Given the description of an element on the screen output the (x, y) to click on. 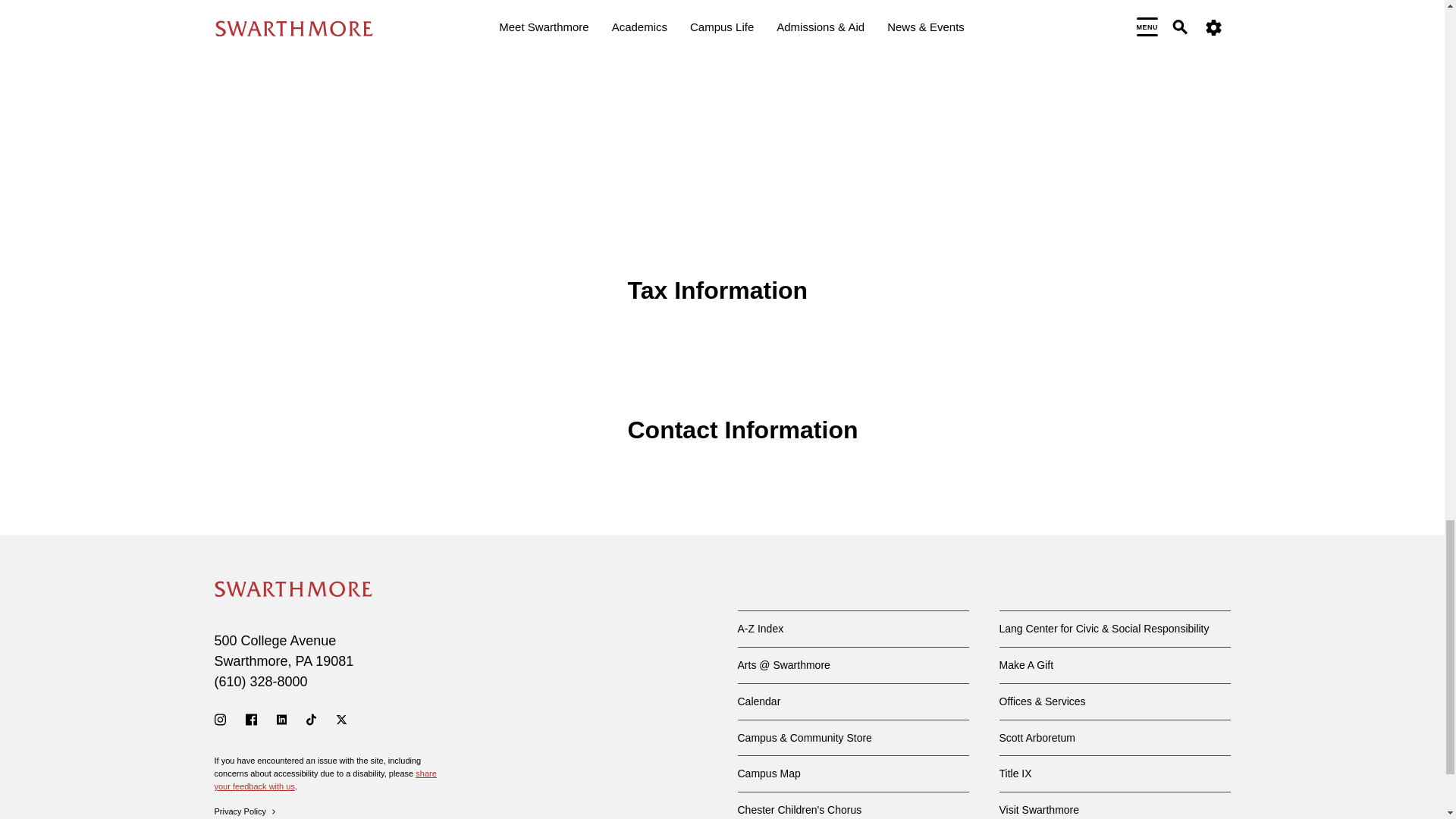
Pennsylvania (304, 661)
Swarthmore College - Home (292, 588)
Facebook (251, 719)
Instagram (219, 719)
